Given the description of an element on the screen output the (x, y) to click on. 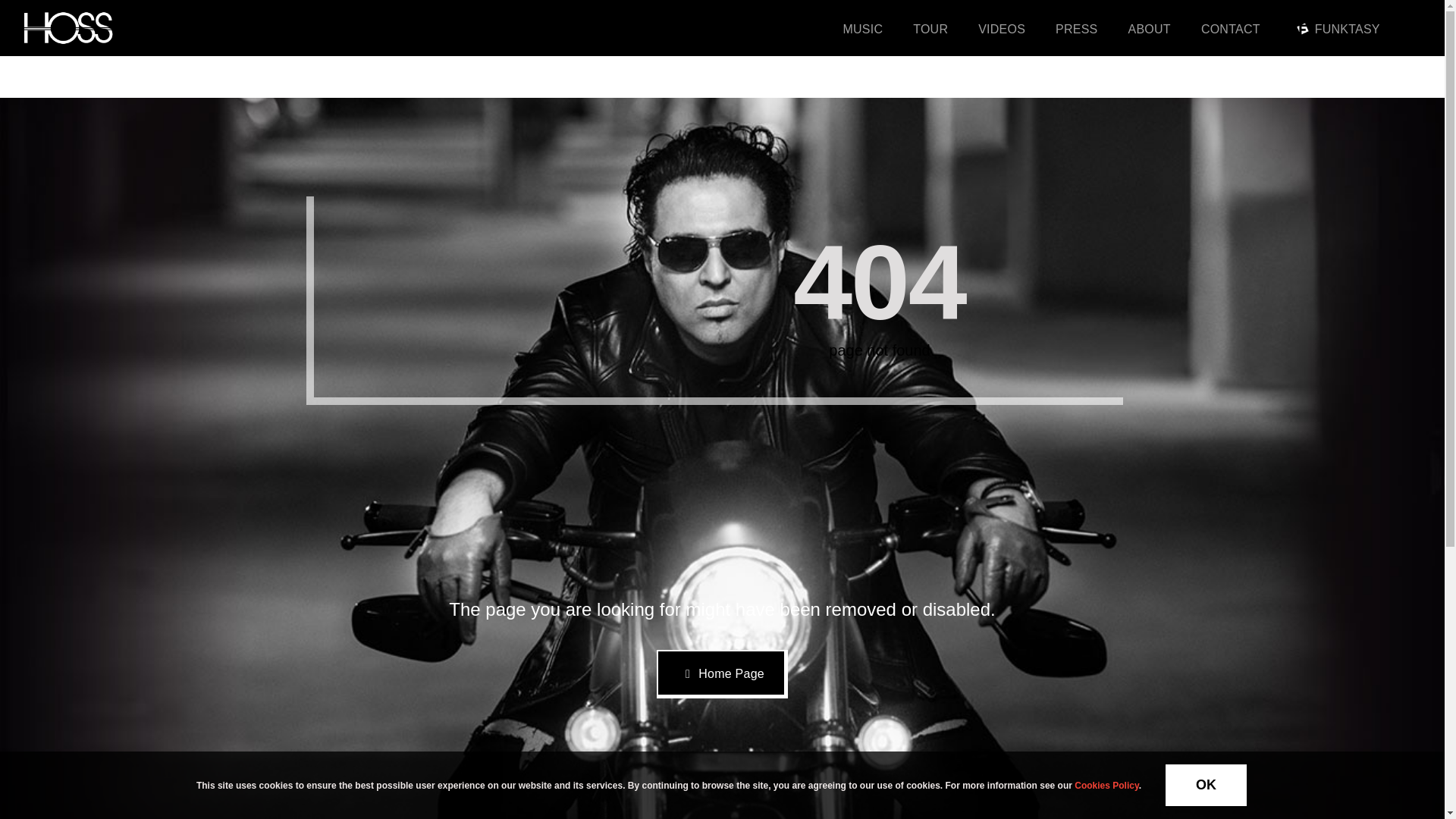
FUNKTASY (1335, 28)
Funktasy (1302, 28)
Cookies Policy (1106, 784)
VIDEOS (1001, 28)
Home Page (721, 674)
CONTACT (1230, 28)
